Given the description of an element on the screen output the (x, y) to click on. 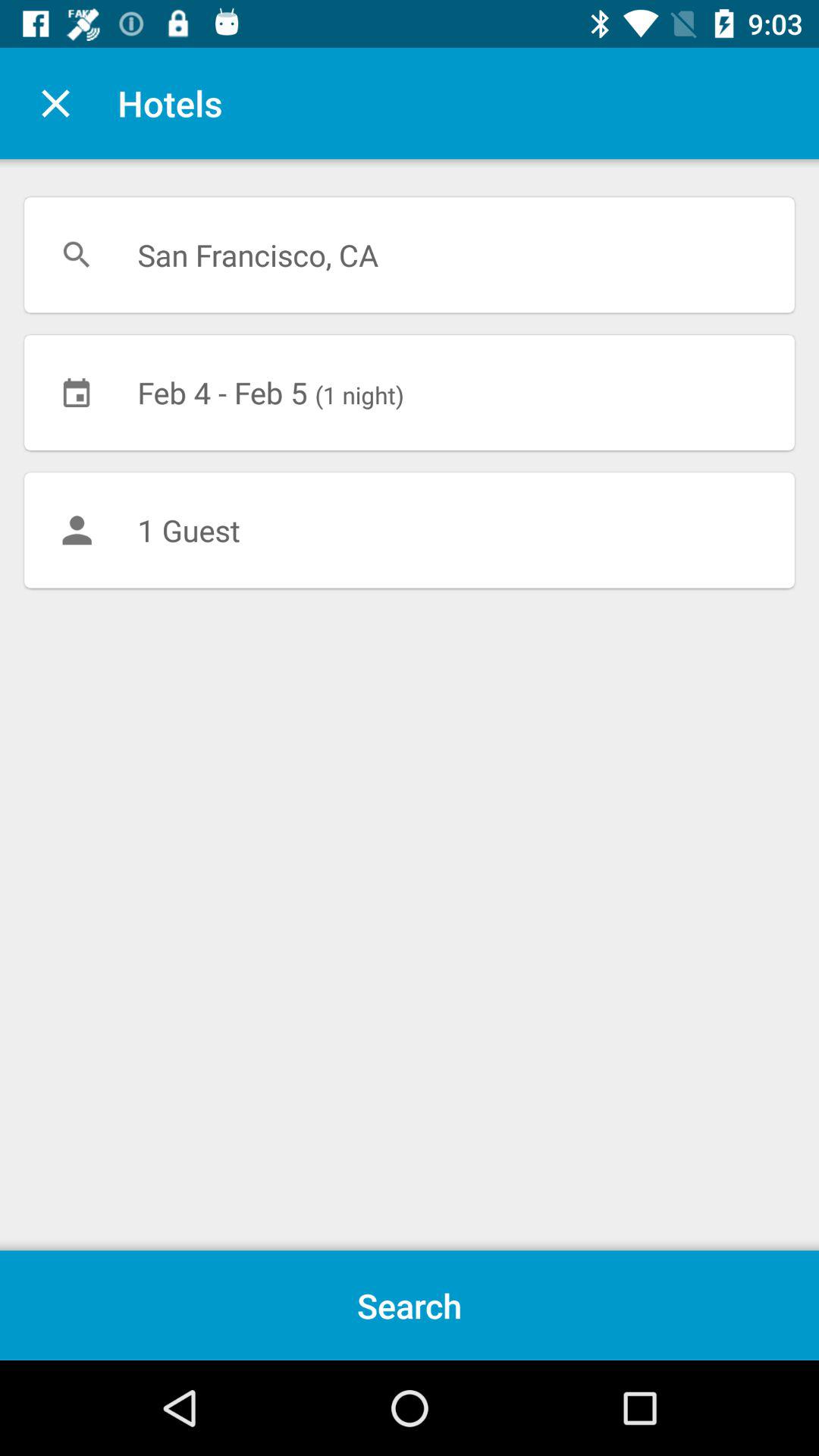
scroll until san francisco, ca (409, 254)
